Given the description of an element on the screen output the (x, y) to click on. 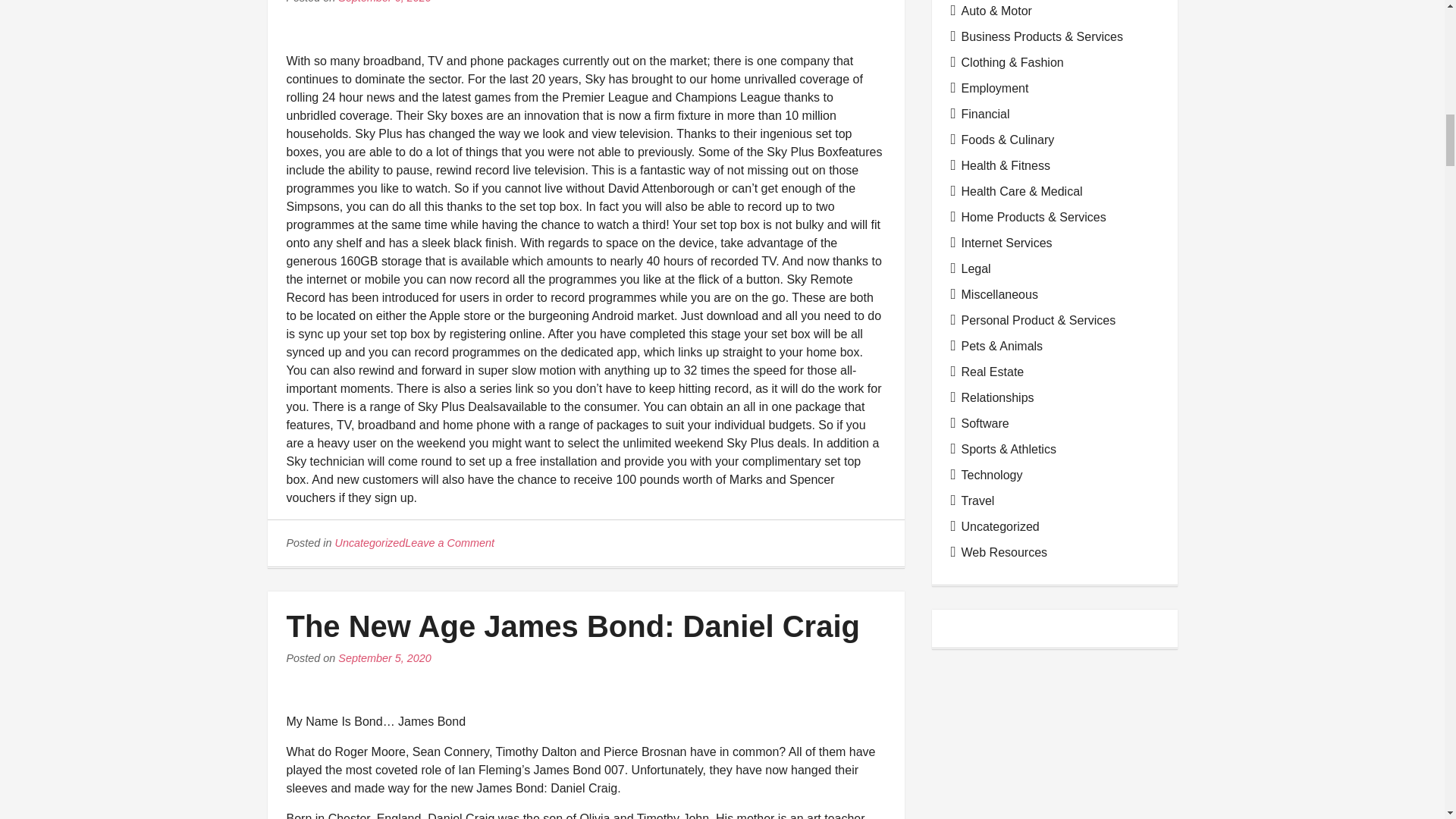
September 5, 2020 (383, 657)
Uncategorized (370, 542)
The New Age James Bond: Daniel Craig (573, 625)
September 6, 2020 (383, 2)
